Given the description of an element on the screen output the (x, y) to click on. 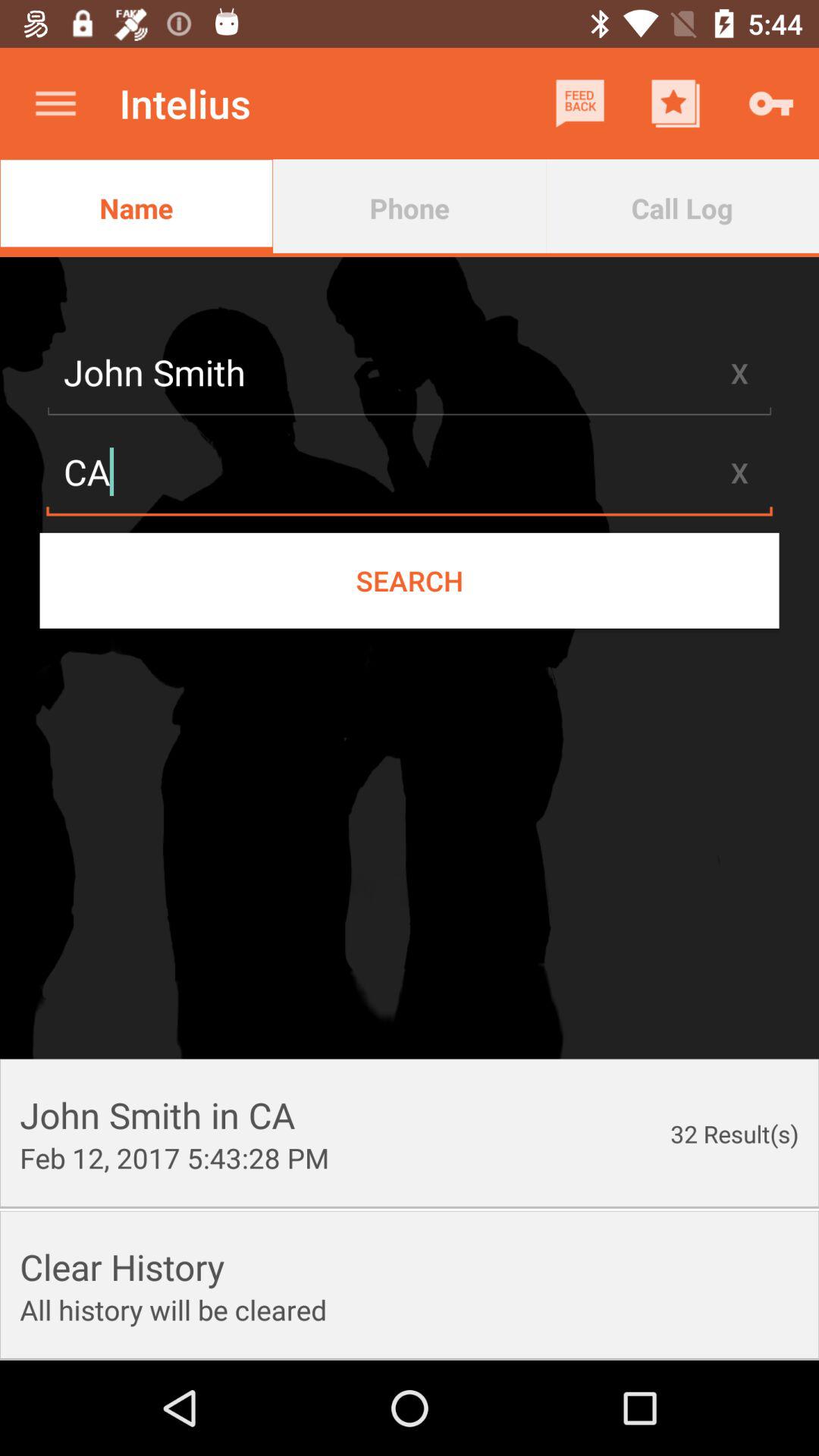
turn off the item above clear history app (174, 1157)
